Given the description of an element on the screen output the (x, y) to click on. 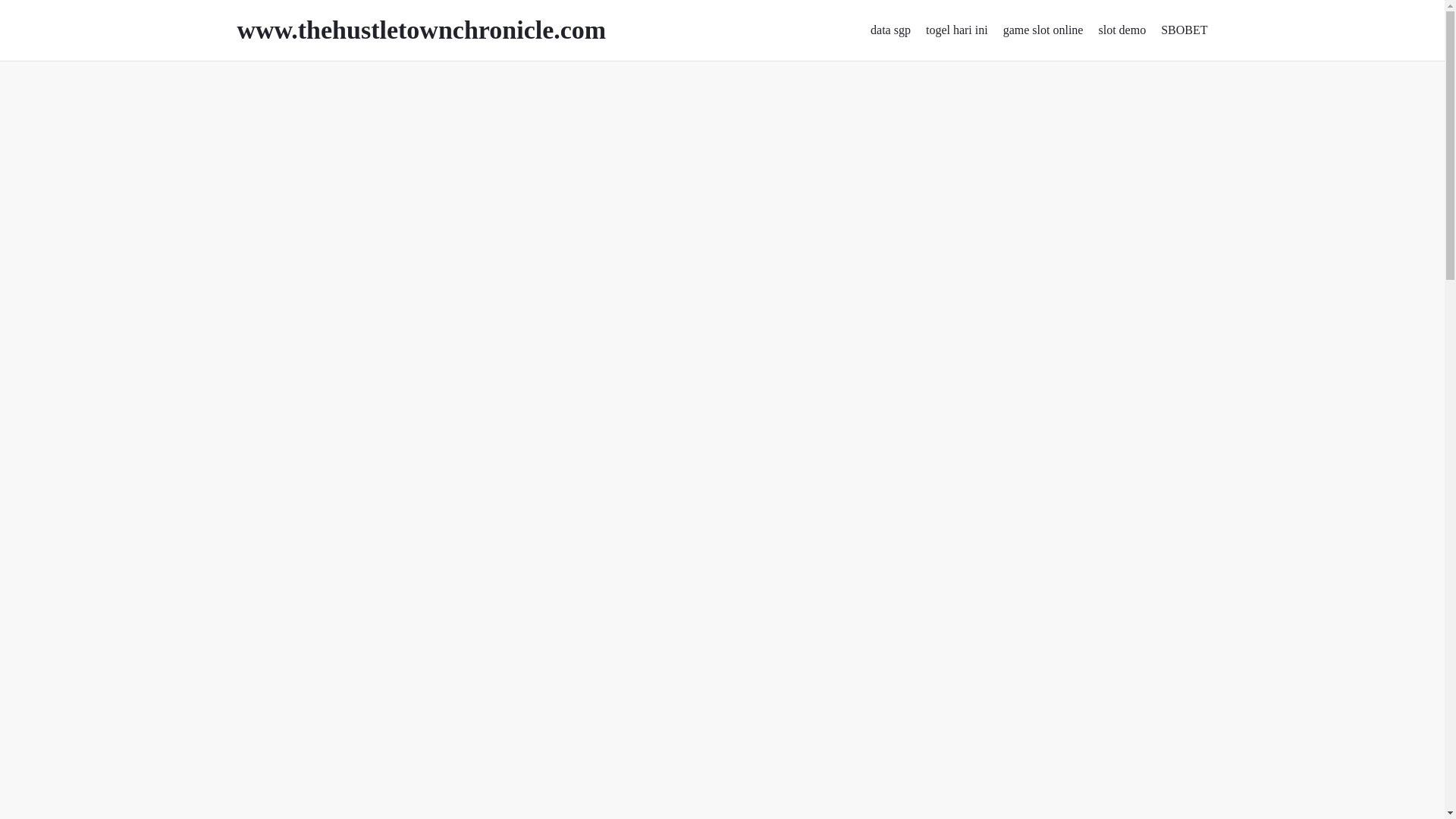
slot demo (1121, 30)
SBOBET (1183, 30)
Home (250, 82)
game slot online (1043, 30)
Monday, March 27, 2023, 5:40 pm (276, 138)
data sgp (890, 30)
adminss (357, 138)
Posts by adminss (357, 138)
SEARCH (1178, 166)
www.thehustletownchronicle.com (441, 30)
